Given the description of an element on the screen output the (x, y) to click on. 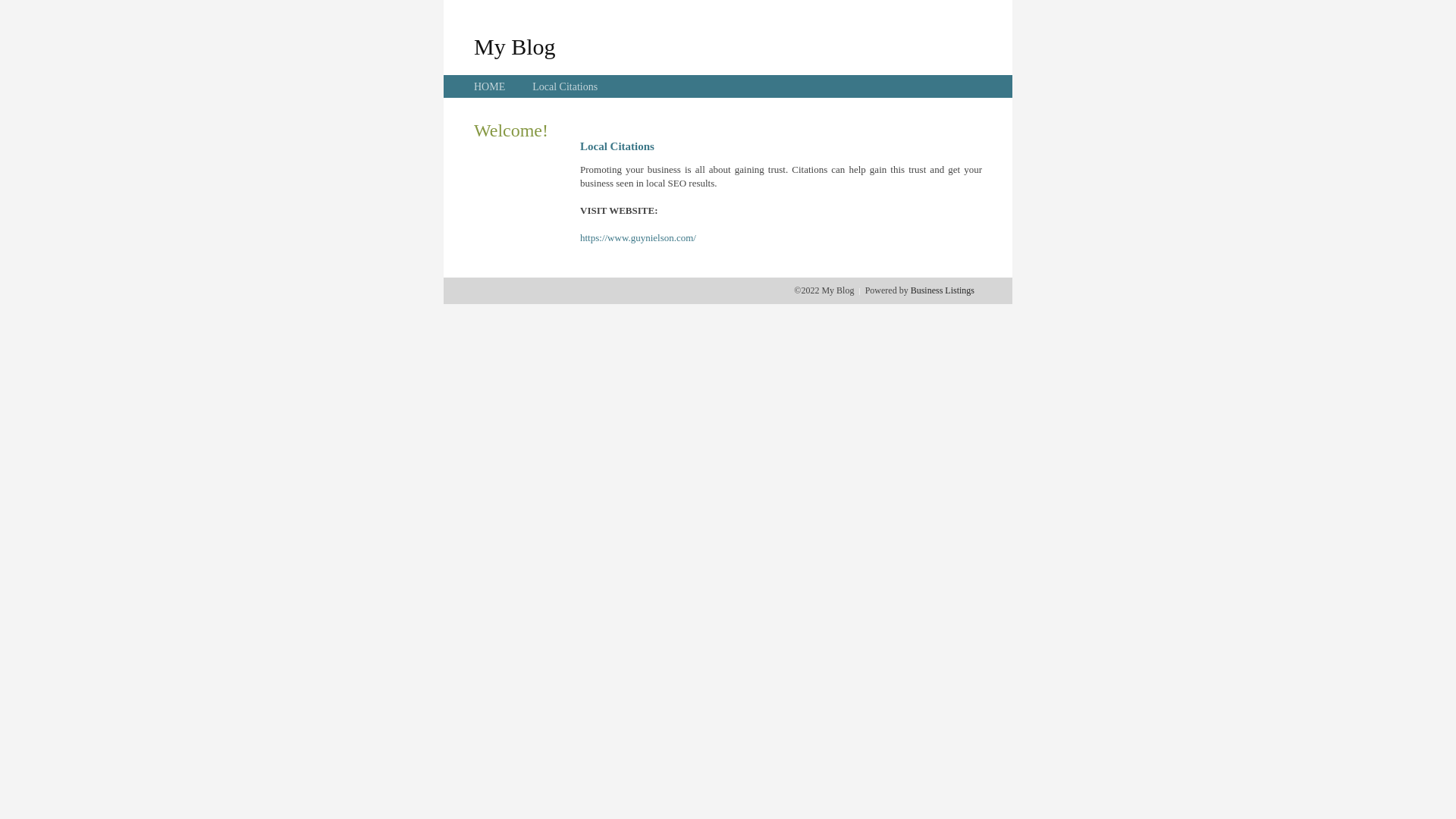
Business Listings Element type: text (942, 290)
My Blog Element type: text (514, 46)
https://www.guynielson.com/ Element type: text (638, 237)
Local Citations Element type: text (564, 86)
HOME Element type: text (489, 86)
